Given the description of an element on the screen output the (x, y) to click on. 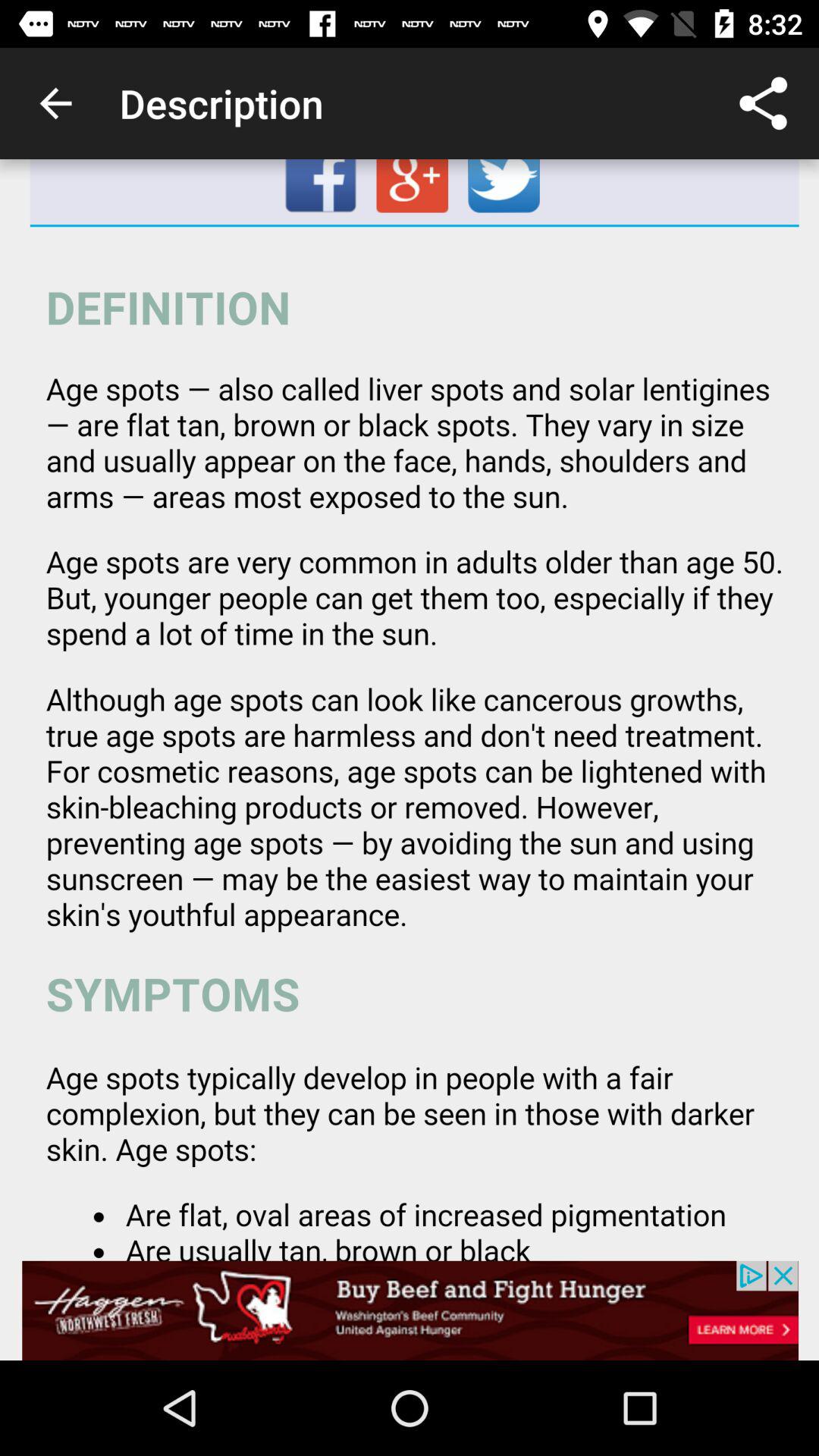
share on google plus (414, 191)
